Given the description of an element on the screen output the (x, y) to click on. 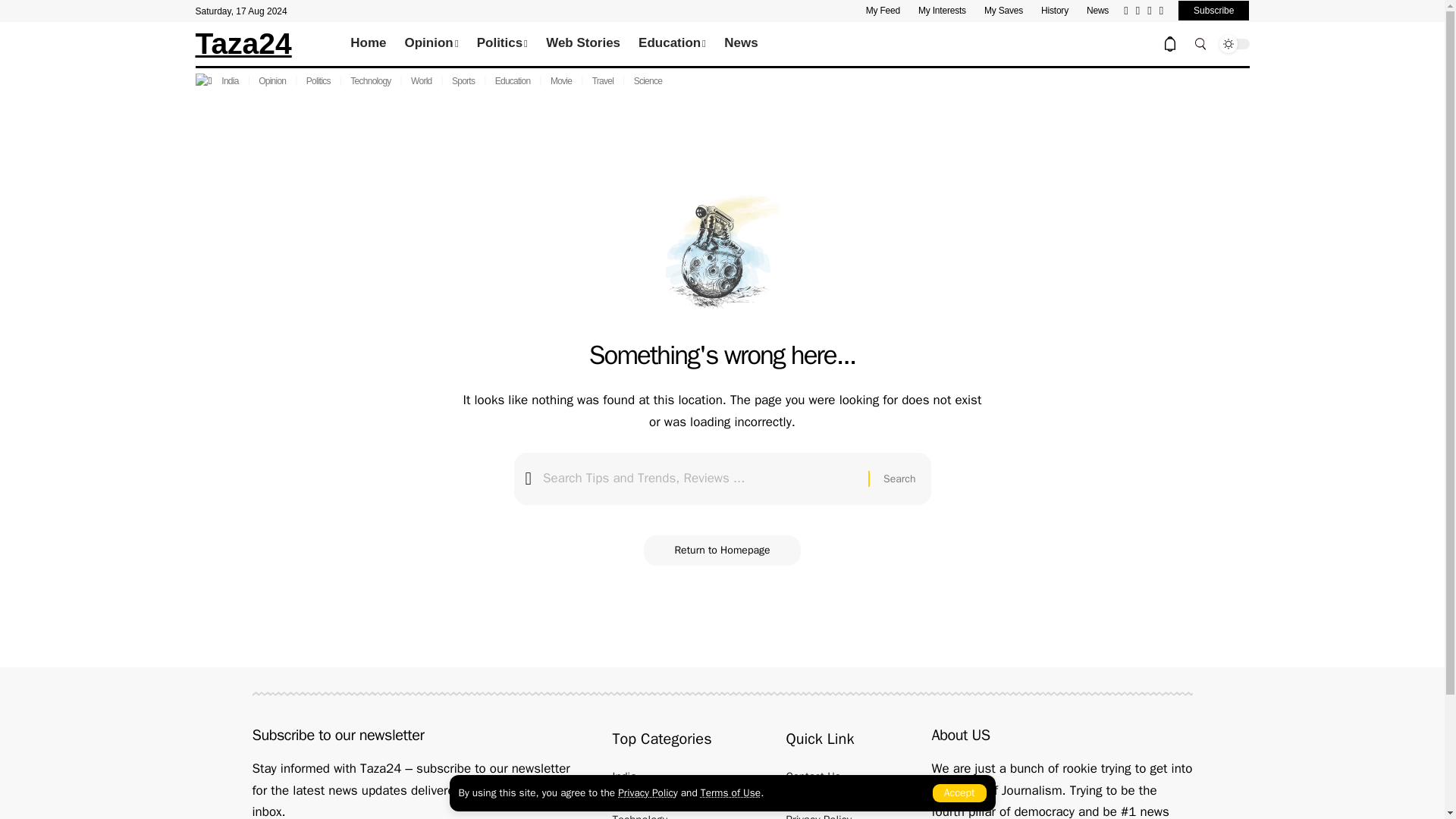
Accept (960, 792)
Privacy Policy (647, 792)
Taza24 (243, 43)
Opinion (431, 43)
Search (899, 478)
My Saves (1003, 10)
Subscribe (1213, 10)
Web Stories (582, 43)
Politics (502, 43)
